Given the description of an element on the screen output the (x, y) to click on. 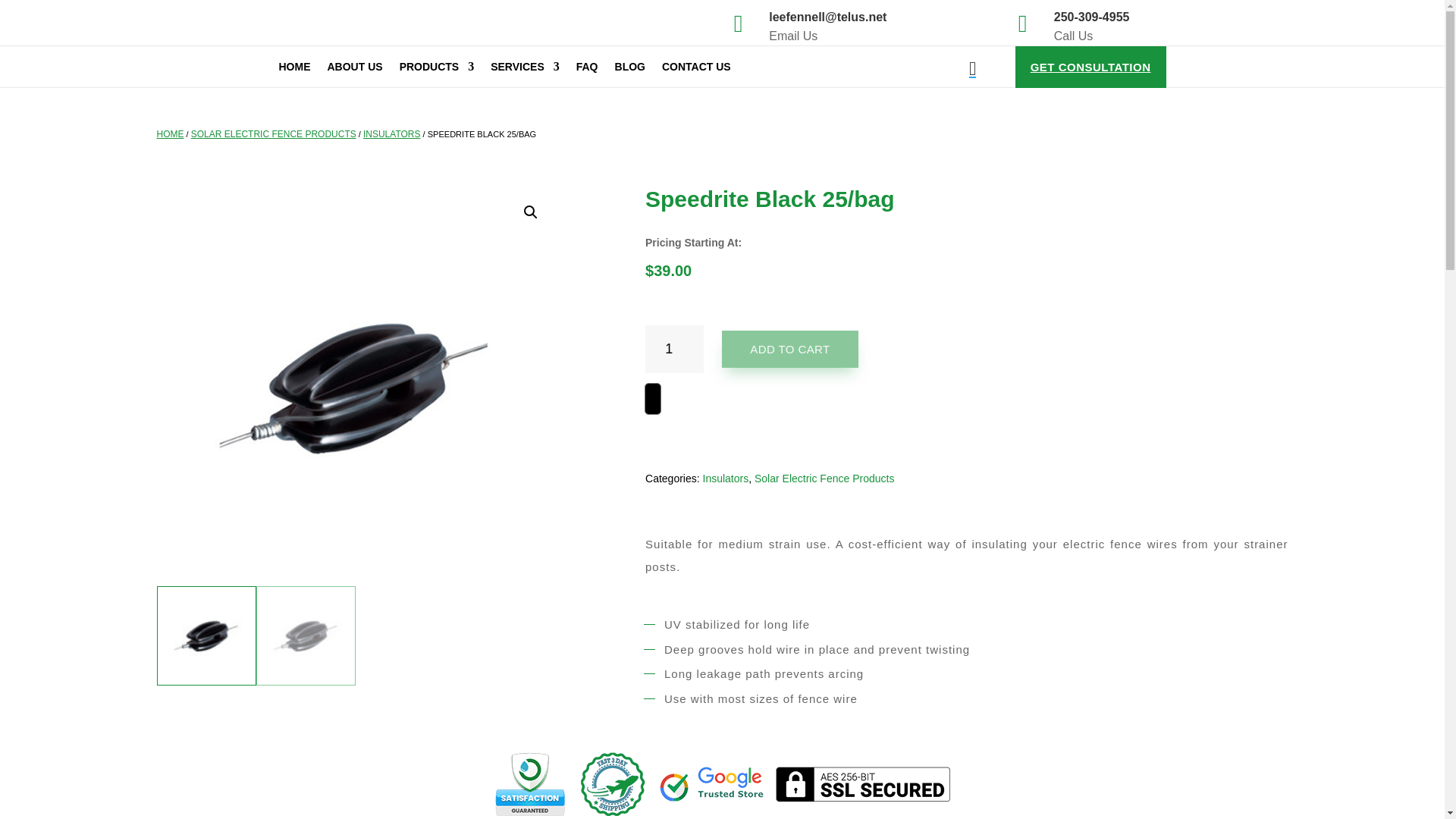
BLOG (629, 69)
ABOUT US (354, 69)
HOME (295, 69)
Okanagan Fence Supplies Trust Badge (722, 783)
FAQ (587, 69)
CONTACT US (696, 69)
250-309-4955 (1091, 16)
SERVICES (524, 69)
1 (674, 349)
PRODUCTS (436, 69)
